Given the description of an element on the screen output the (x, y) to click on. 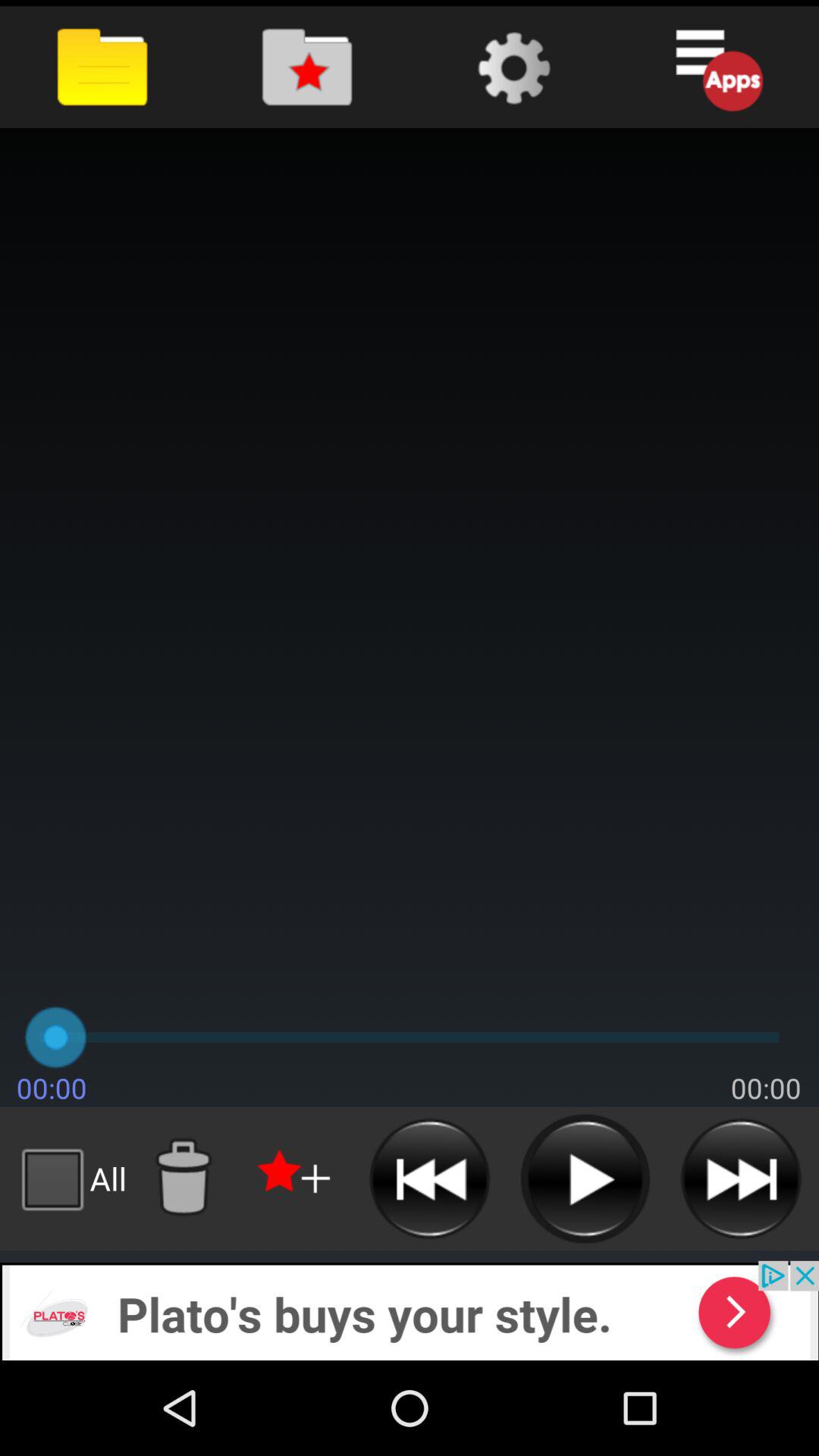
play button (584, 1178)
